Given the description of an element on the screen output the (x, y) to click on. 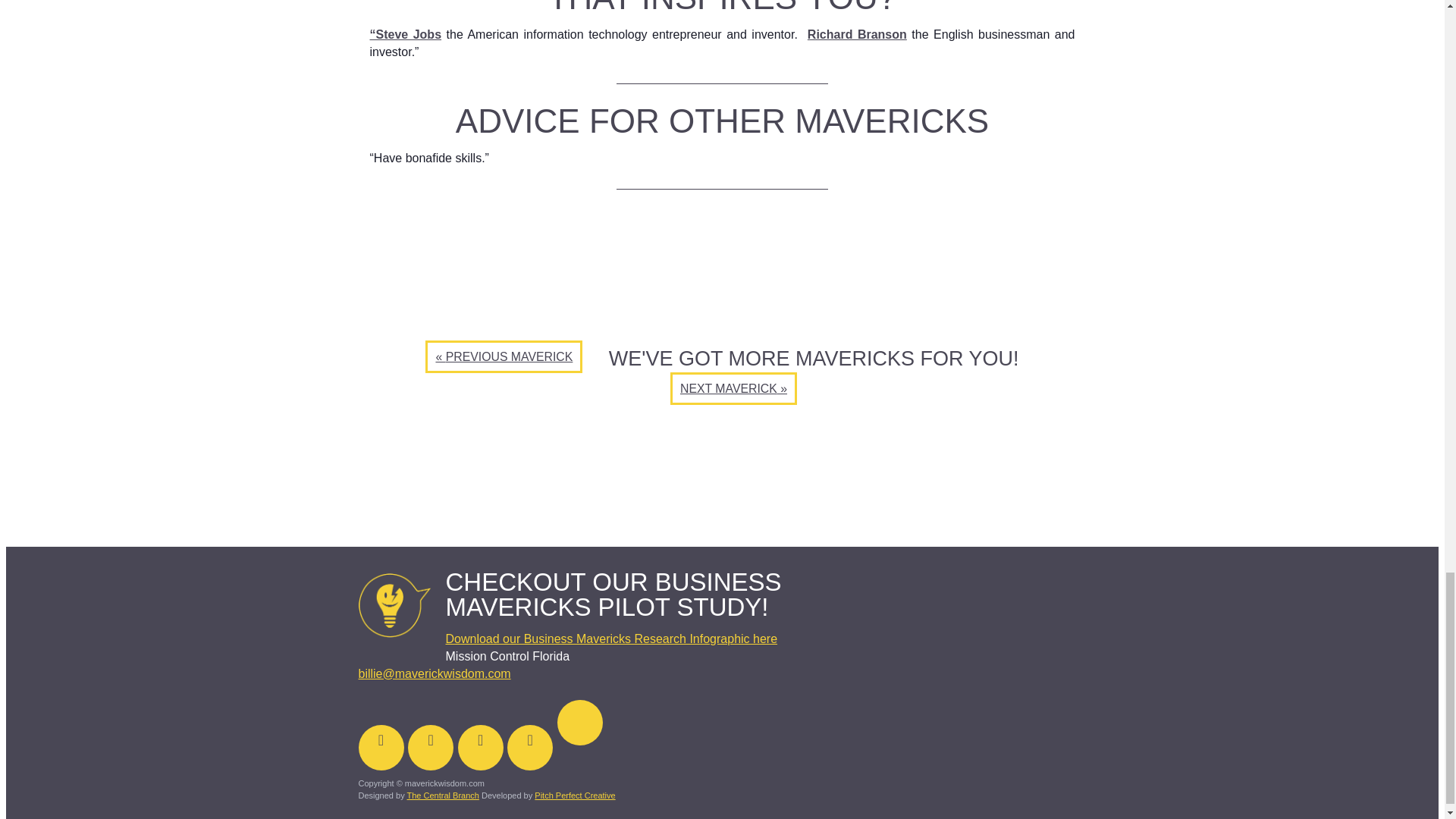
NEXT MAVERICK (732, 388)
KNOWLEDGE (910, 529)
PREVIOUS MAVERICK (503, 356)
Download our Business Mavericks Research Infographic here (611, 638)
Pitch Perfect Creative (574, 795)
BUSINESS MAVERICKS (540, 529)
RESEARCH (828, 529)
Richard Branson (857, 33)
The Central Branch (443, 795)
HIRE US (982, 529)
BOOK (770, 529)
YOUNG MAVERICKS (684, 529)
